Given the description of an element on the screen output the (x, y) to click on. 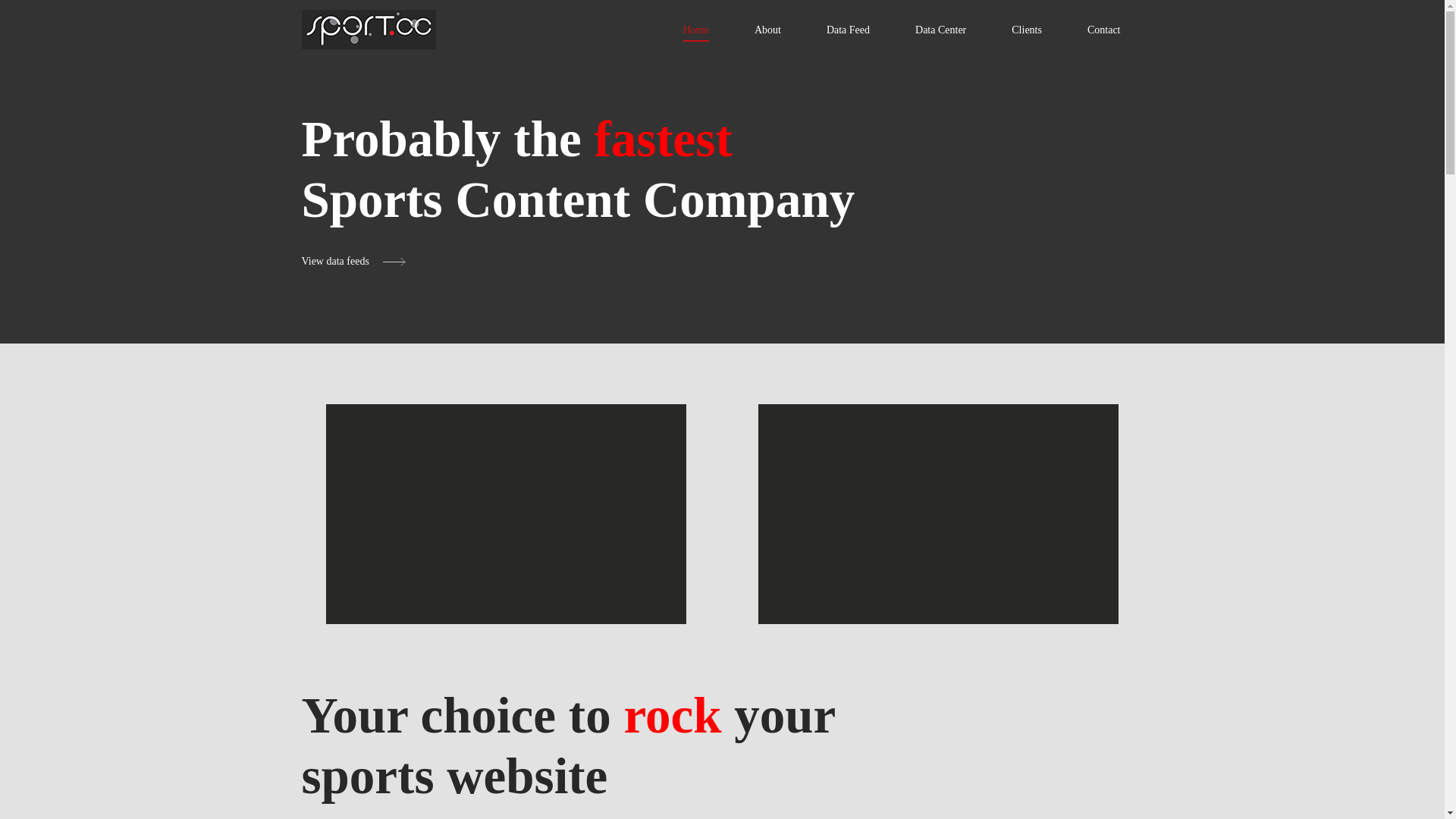
Data Feed Element type: text (847, 29)
About Element type: text (767, 29)
View data feeds Element type: text (353, 261)
Data Center Element type: text (940, 29)
Home Element type: text (696, 29)
Clients Element type: text (1026, 29)
Contact Element type: text (1103, 29)
